Given the description of an element on the screen output the (x, y) to click on. 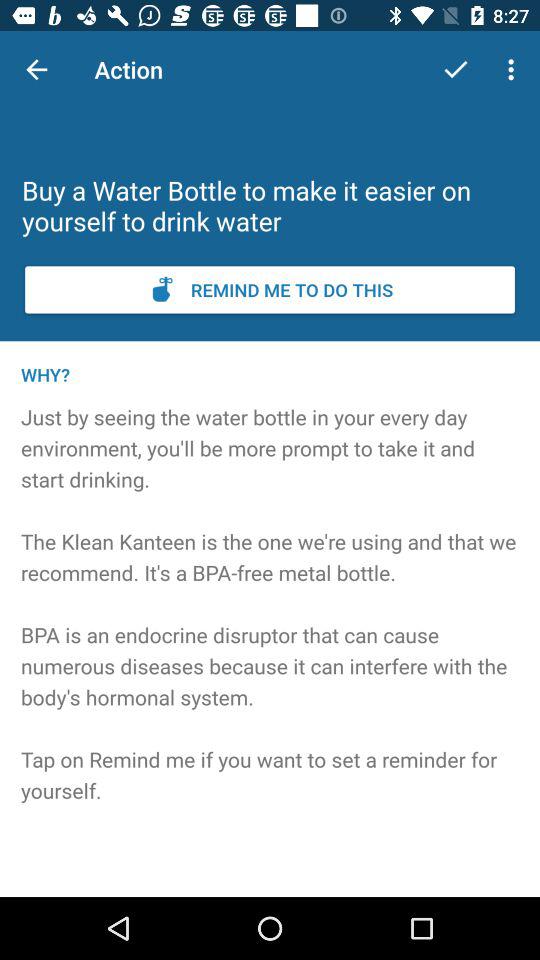
launch the icon below why? icon (270, 631)
